Given the description of an element on the screen output the (x, y) to click on. 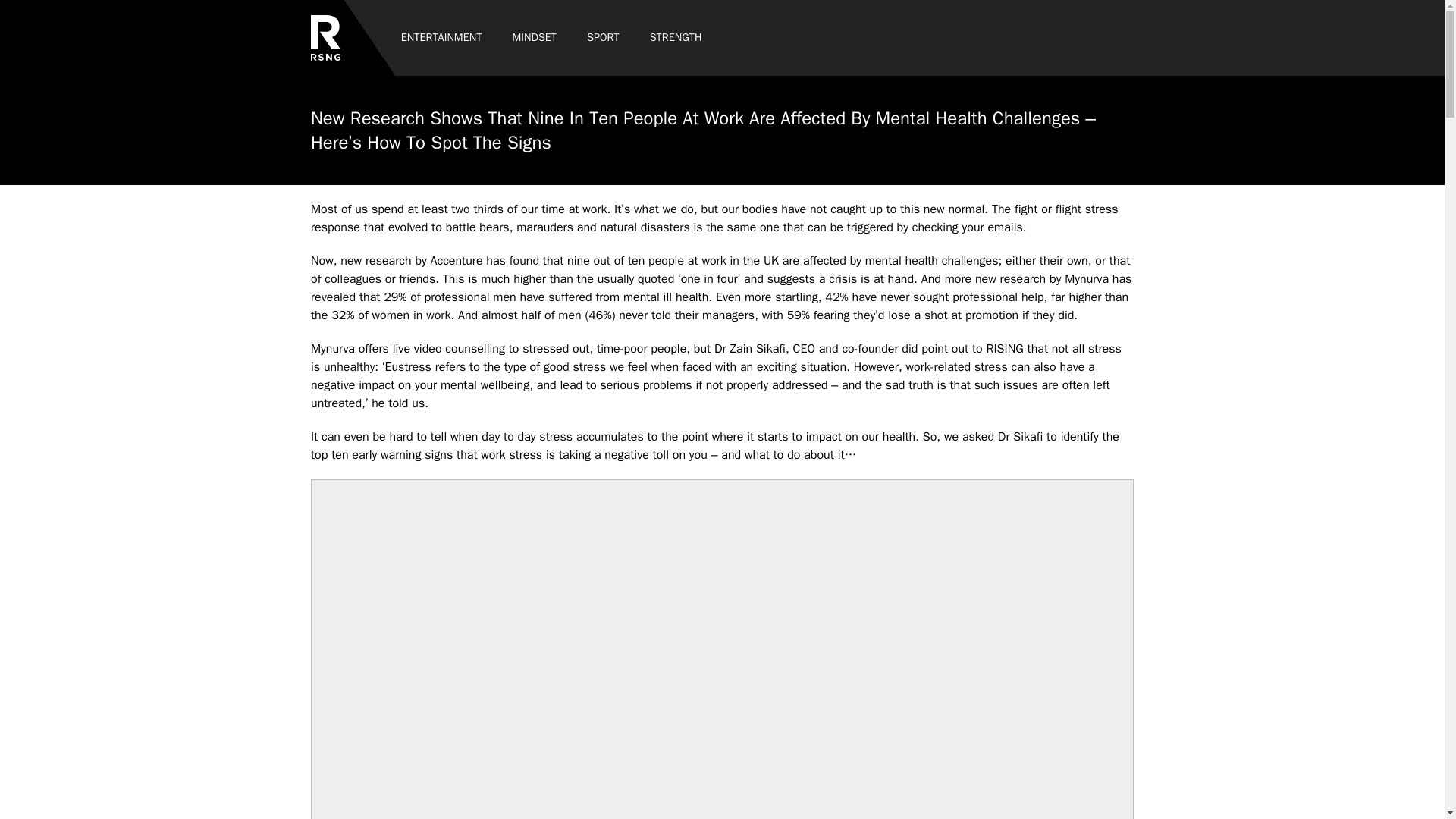
SPORT (603, 38)
ENTERTAINMENT (441, 38)
STRENGTH (676, 38)
MINDSET (533, 38)
